Given the description of an element on the screen output the (x, y) to click on. 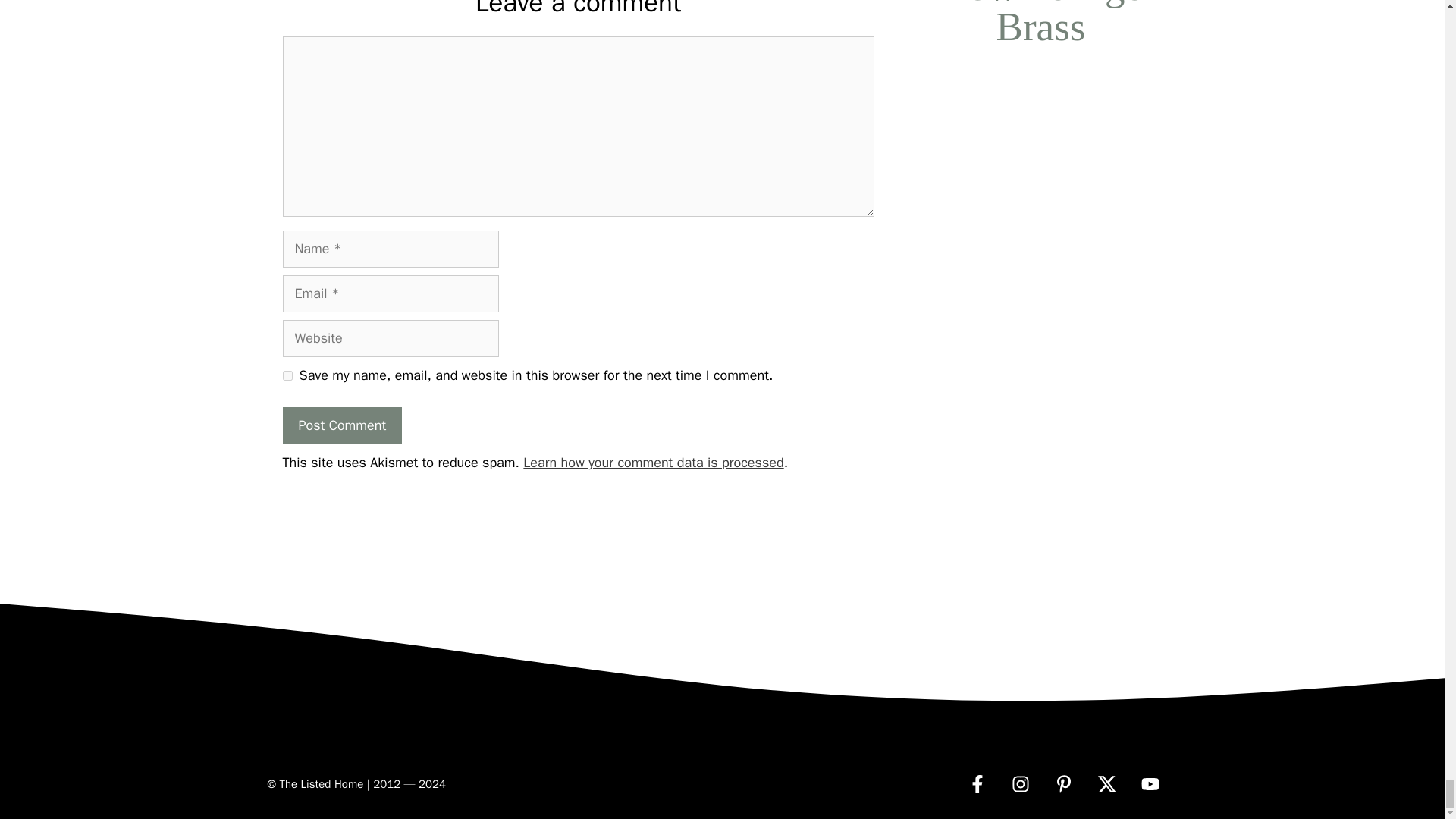
yes (287, 375)
Post Comment (341, 425)
